Given the description of an element on the screen output the (x, y) to click on. 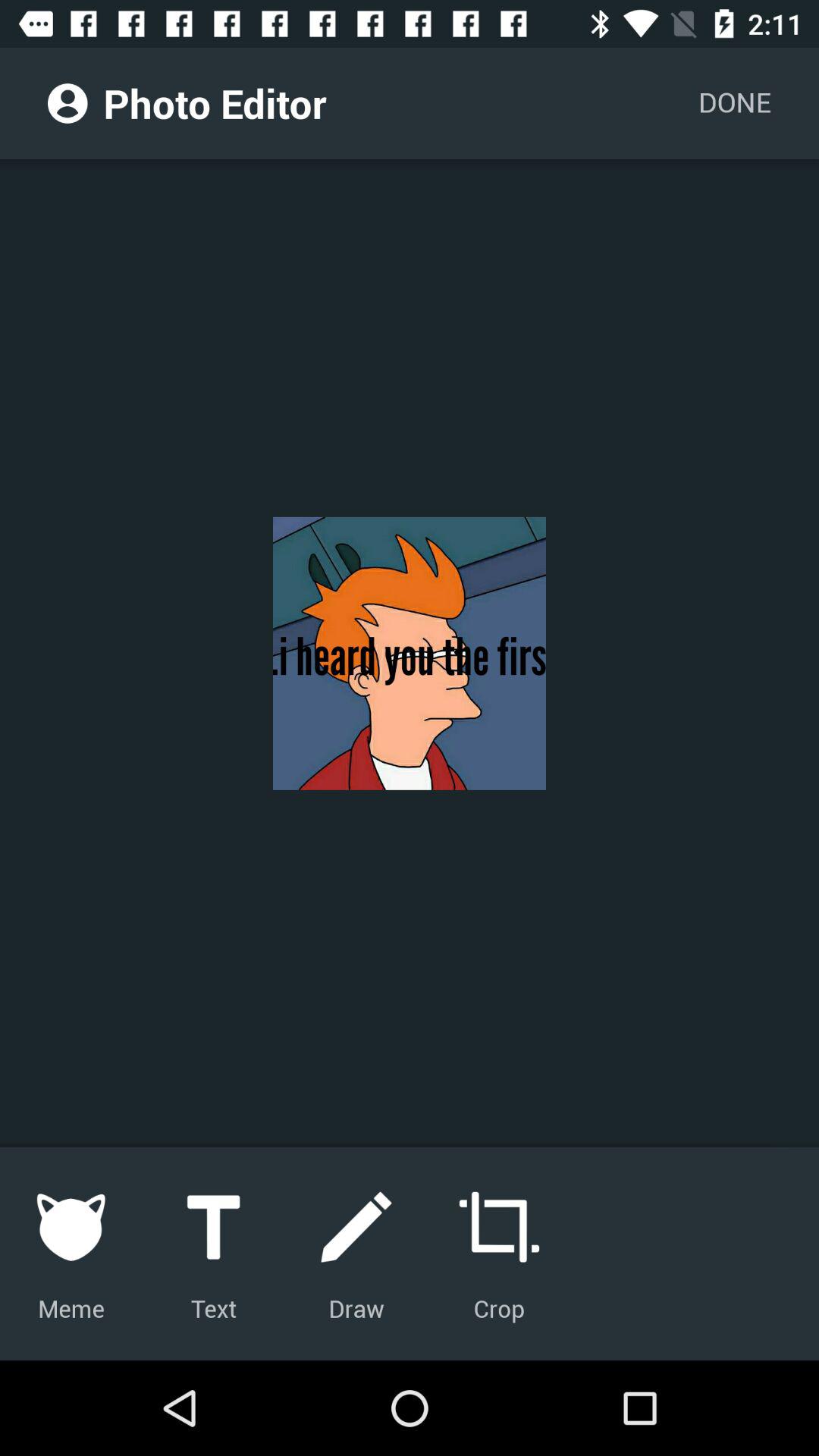
choose the icon to the left of photo editor icon (67, 103)
